Given the description of an element on the screen output the (x, y) to click on. 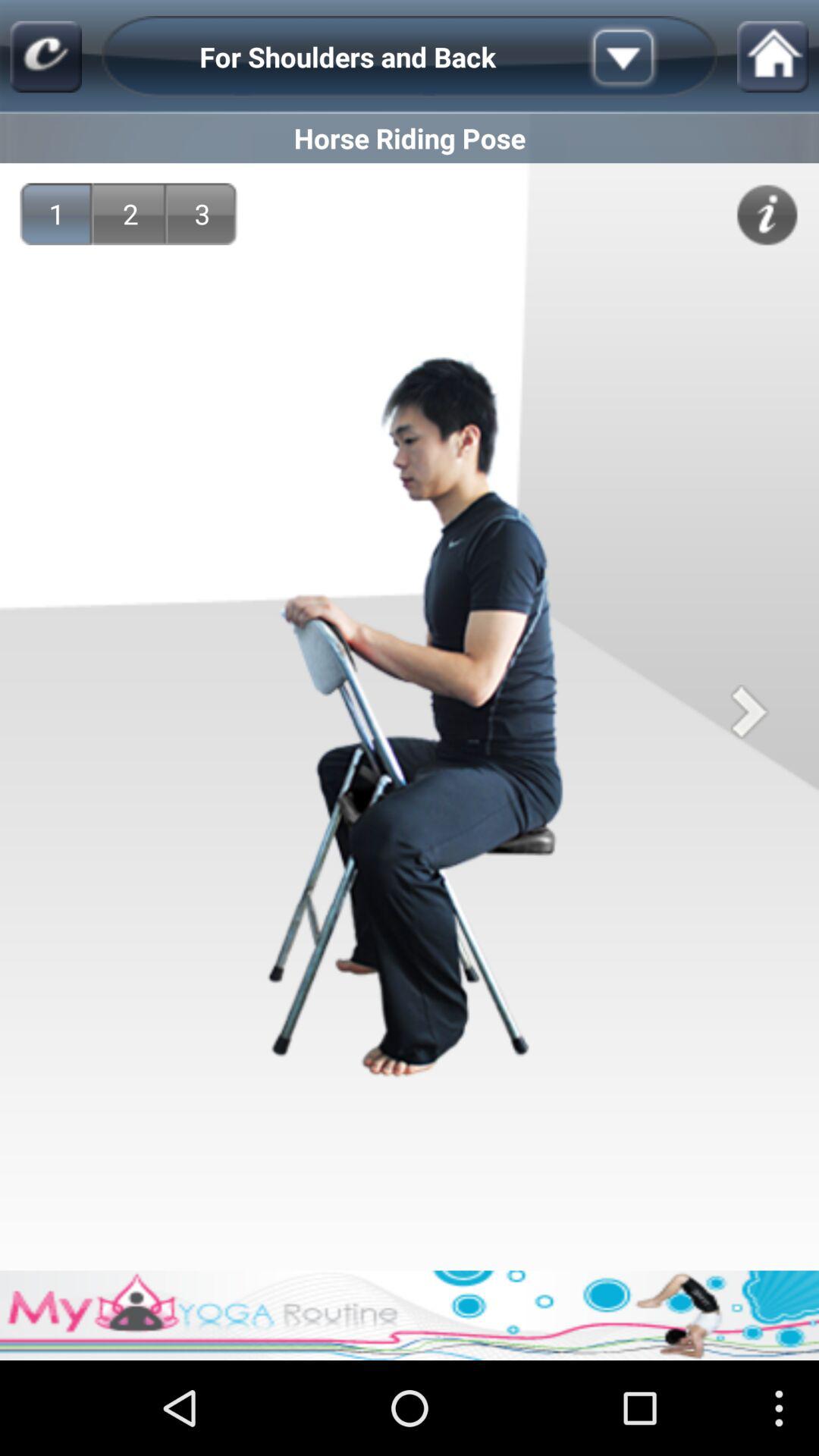
choose item next to the for shoulders and item (646, 56)
